Given the description of an element on the screen output the (x, y) to click on. 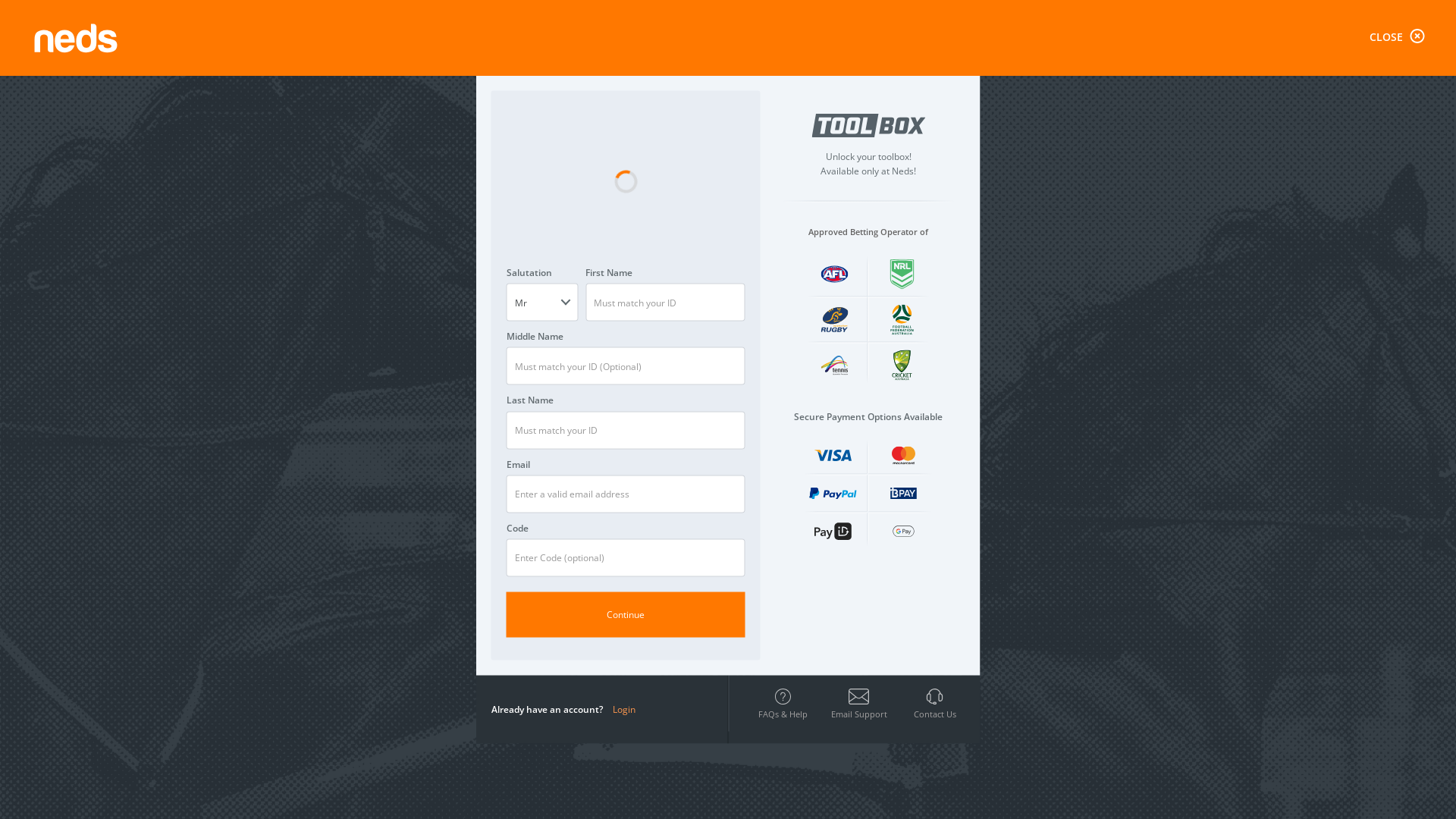
BLOG Element type: text (386, 443)
VAAL
R1
-5m Element type: text (810, 209)
3.30 Element type: text (1109, 281)
PROMOTIONS Element type: text (386, 332)
R9 WATERFORD
-1m 47s Element type: text (1223, 92)
3.30 Element type: text (664, 315)
FAQs & Help Element type: text (782, 702)
2.65 Element type: text (820, 603)
7.50 Element type: text (887, 382)
14.00 Element type: text (887, 448)
SPORTS Element type: text (386, 258)
FAQs & Help Element type: text (340, 33)
6.50 Element type: text (887, 348)
Contact Us Element type: text (934, 702)
R1 VAAL
-5m Element type: text (594, 92)
2.65 Element type: text (820, 723)
Join Now Element type: text (1098, 22)
1.42 Element type: text (600, 723)
Futures Element type: text (386, 681)
HOW TO Element type: text (386, 370)
NEDS CARD Element type: text (386, 406)
MIAMI HEAT (B.I.G) - INDIANA PACERS (SHARHAN) (BO1) Element type: text (684, 777)
6.00 Element type: text (887, 315)
5.00 Element type: text (1109, 382)
Email Support Element type: text (858, 702)
Railway Stakes (G1) Element type: text (386, 547)
Racing Extras Element type: text (386, 581)
2.80 Element type: text (664, 281)
Blog Element type: text (441, 33)
Continue Element type: text (625, 614)
CLOSE Element type: text (1398, 36)
Search Element type: text (490, 22)
10.00 Element type: text (887, 415)
ADRIAN WIECEK VS SLAWOMIR DOSZ Element type: text (684, 536)
Login Element type: text (624, 708)
MUMBAI
R4
-5m Element type: text (588, 209)
KACPER SLAWINSKI VS DAWID DYTKO Element type: text (684, 657)
3.70 Element type: text (887, 281)
LIVE - IN PLAY Element type: text (386, 295)
Racing Element type: text (386, 514)
FILTER FORM Element type: text (386, 221)
4.50 Element type: text (664, 382)
Log In Element type: text (1032, 22)
Contact Us Element type: text (399, 33)
3.30 Element type: text (1109, 315)
3.50 Element type: text (664, 348)
WATERFORD
R9
-1m 47s Element type: text (1033, 209)
Blackbook Element type: text (386, 614)
R1 MANDURAH
-1m 47s Element type: text (1014, 92)
1.42 Element type: text (600, 603)
HOME Element type: text (386, 147)
India Vs Australia Element type: text (386, 781)
8.50 Element type: text (1109, 448)
R4 MUMBAI
-5m Element type: text (803, 92)
6.00 Element type: text (1109, 415)
Jockey Challenge Element type: text (386, 648)
NBA Element type: text (386, 748)
RACING Element type: text (386, 184)
NFL Element type: text (386, 714)
5.00 Element type: text (1109, 348)
